Given the description of an element on the screen output the (x, y) to click on. 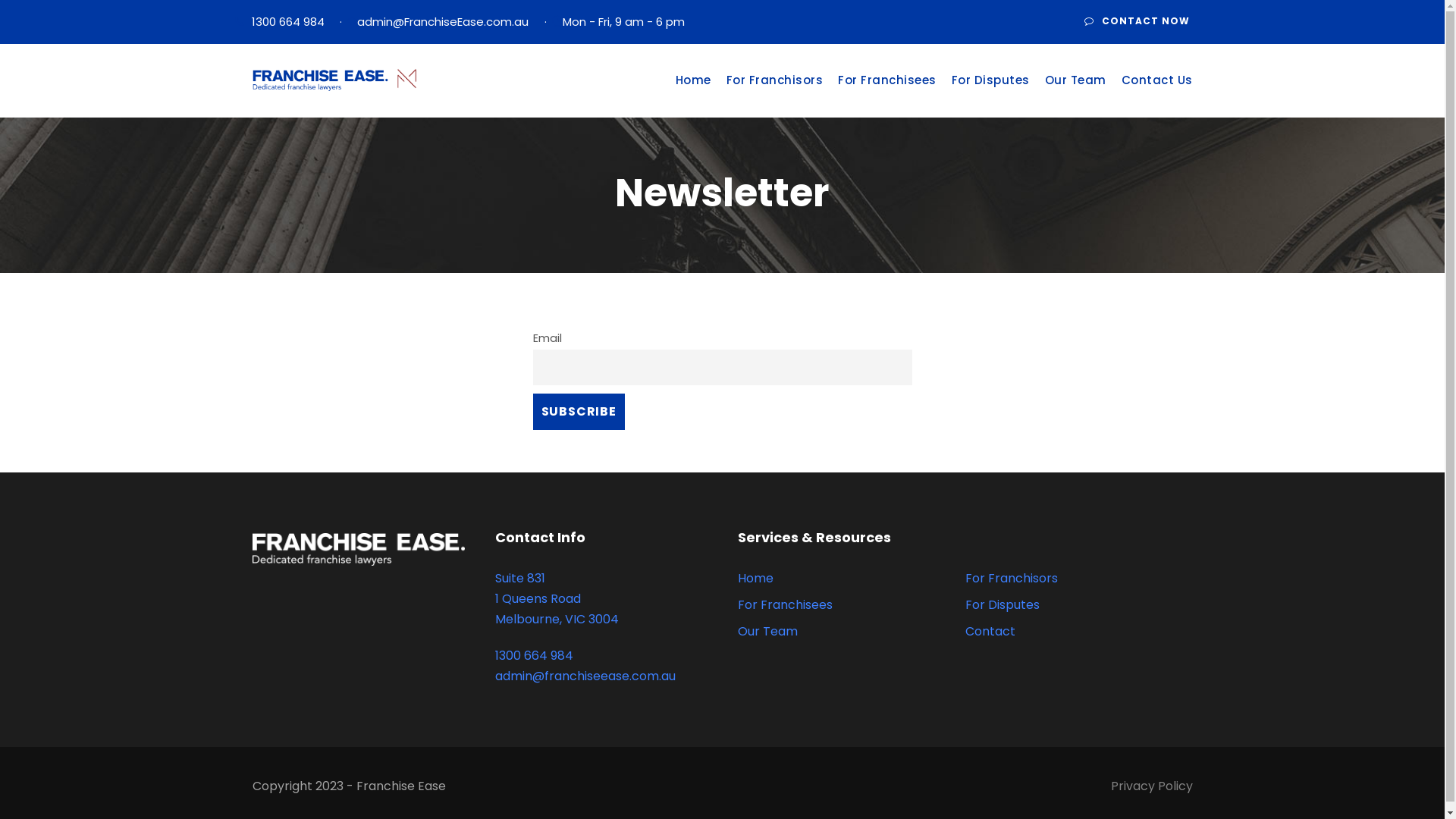
Our Team Element type: text (1075, 91)
CONTACT NOW Element type: text (1135, 21)
For Franchisors Element type: text (1010, 577)
For Franchisees Element type: text (886, 91)
Contact Element type: text (989, 631)
FE and MIN transparent 2 Element type: hover (333, 80)
Our Team Element type: text (767, 631)
For Disputes Element type: text (1001, 604)
For Franchisors Element type: text (774, 91)
Home Element type: text (754, 577)
Home Element type: text (692, 91)
Contact Us Element type: text (1156, 91)
admin@FranchiseEase.com.au Element type: text (441, 21)
For Disputes Element type: text (989, 91)
Privacy Policy Element type: text (1151, 785)
For Franchisees Element type: text (784, 604)
Subscribe Element type: text (578, 411)
